Given the description of an element on the screen output the (x, y) to click on. 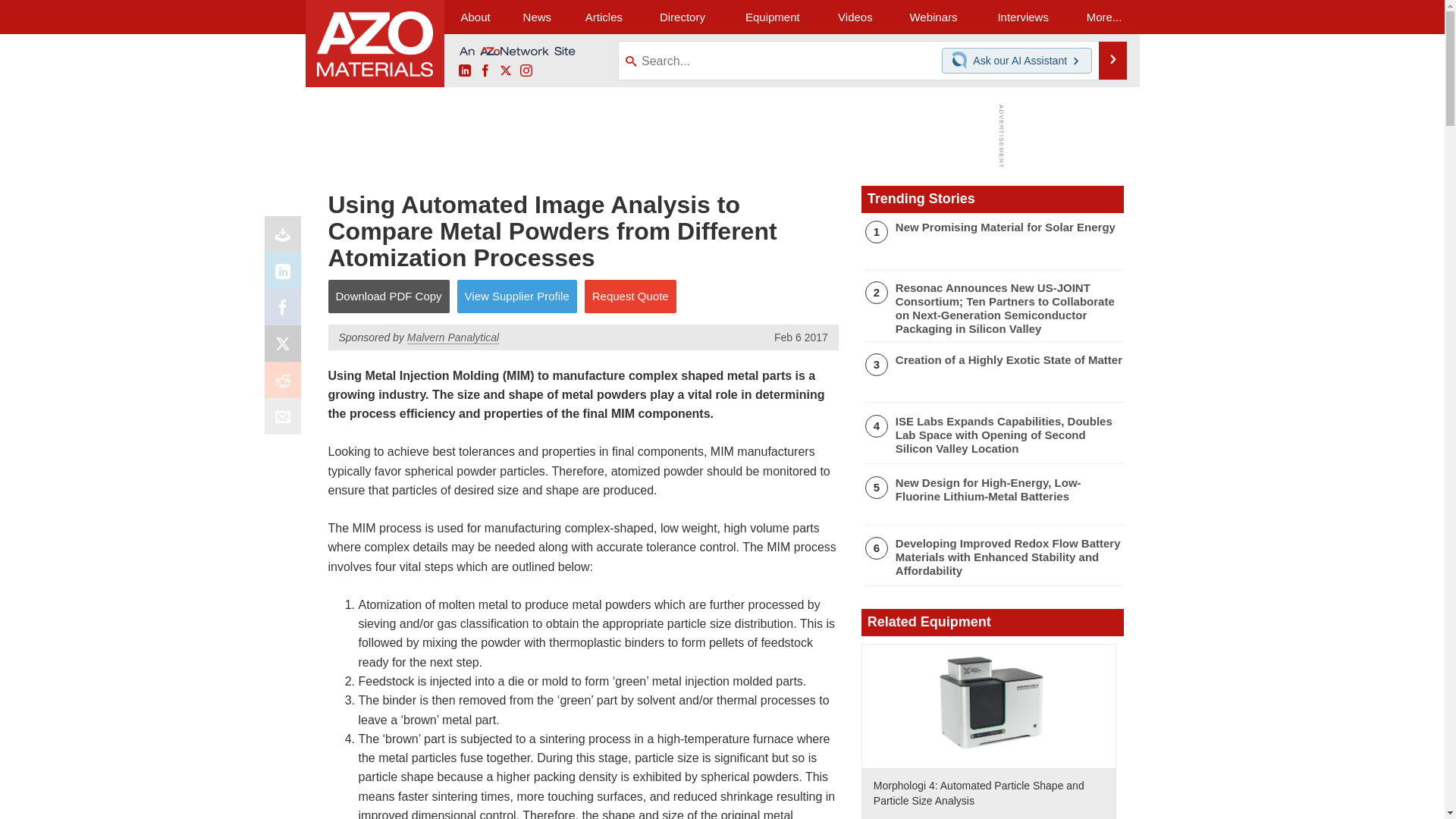
LinkedIn (464, 71)
Articles (603, 17)
Facebook (485, 71)
Directory (681, 17)
Instagram (525, 71)
Chat with our AI Assistant Ask our AI Assistant (1017, 60)
X (285, 348)
Interviews (1022, 17)
3rd party ad content (718, 136)
Download PDF copy (285, 238)
Facebook (285, 311)
LinkedIn (285, 275)
About (475, 17)
X (505, 71)
Chat with our AI Assistant (962, 60)
